Given the description of an element on the screen output the (x, y) to click on. 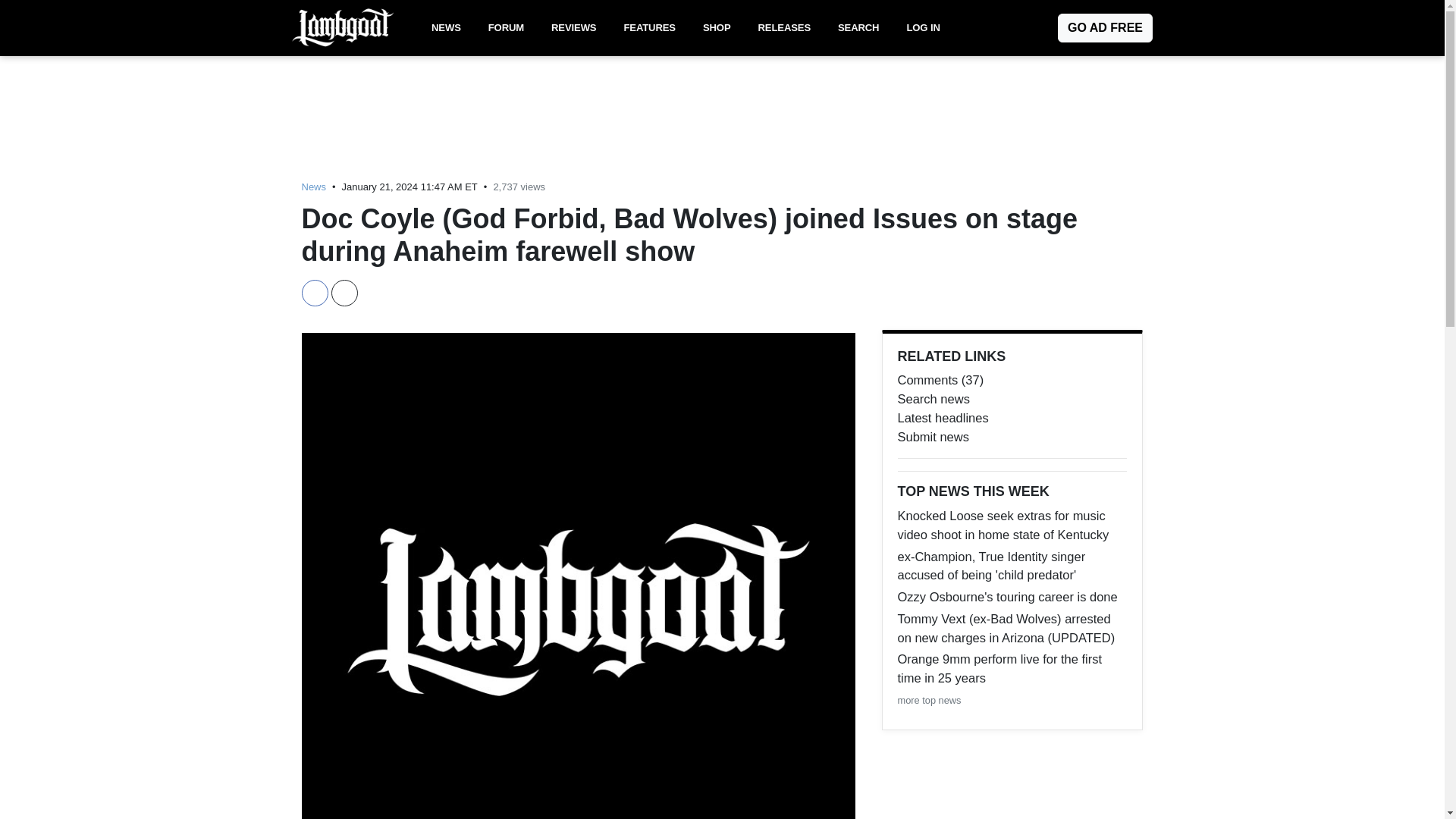
LOG IN (921, 27)
GO AD FREE (1105, 27)
FEATURES (649, 27)
FORUM (505, 27)
Submit news (1012, 436)
News (313, 186)
SHOP (716, 27)
RELEASES (784, 27)
REVIEWS (573, 27)
Search news (1012, 398)
Ozzy Osbourne's touring career is done (1012, 597)
Latest headlines (1012, 417)
SEARCH (858, 27)
